Given the description of an element on the screen output the (x, y) to click on. 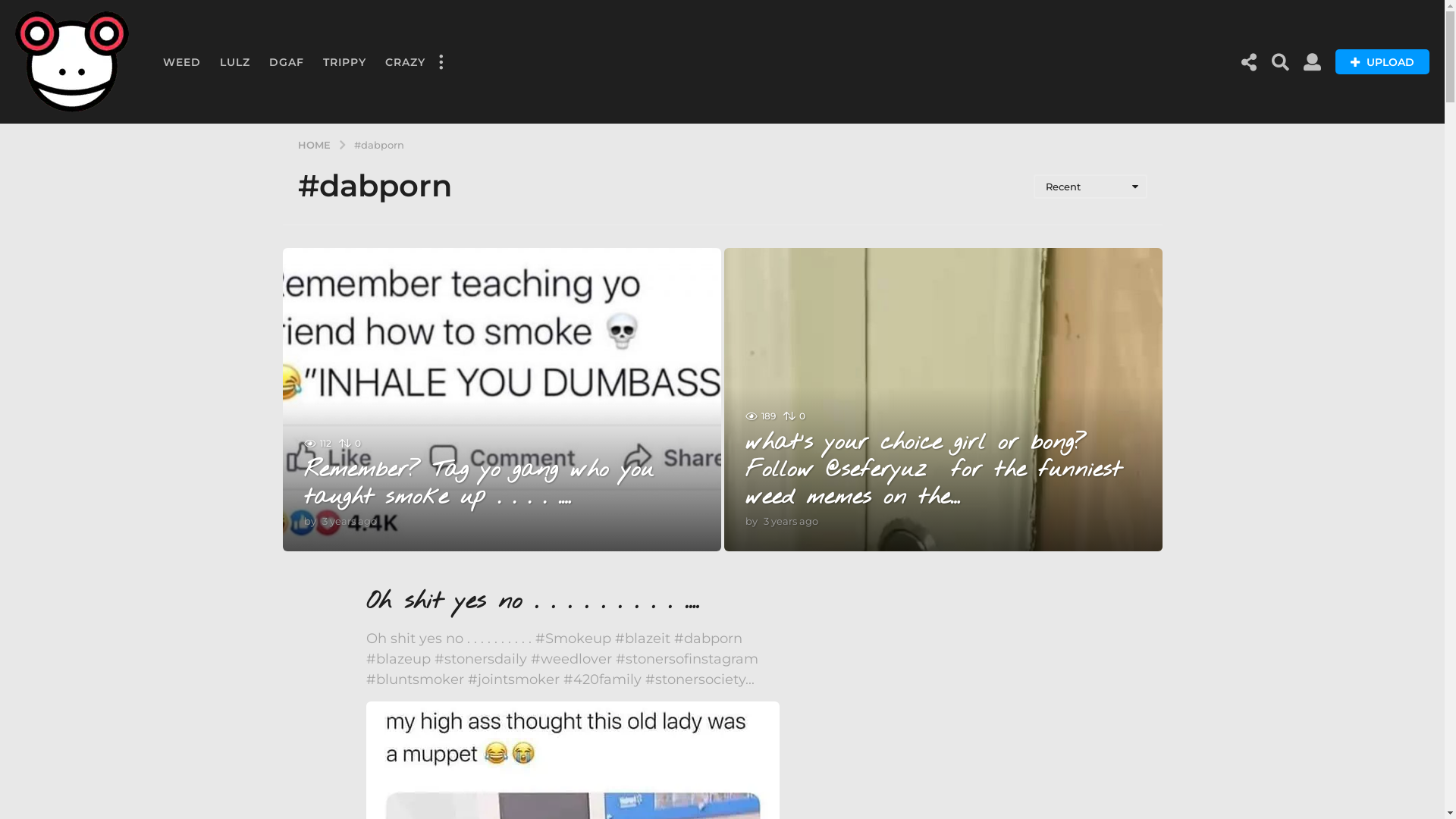
LULZ Element type: text (234, 62)
#dabporn Element type: text (378, 144)
TRIPPY Element type: text (344, 62)
DGAF Element type: text (286, 62)
UPLOAD Element type: text (1382, 61)
CRAZY Element type: text (405, 62)
HOME Element type: text (314, 144)
WEED Element type: text (181, 62)
